Given the description of an element on the screen output the (x, y) to click on. 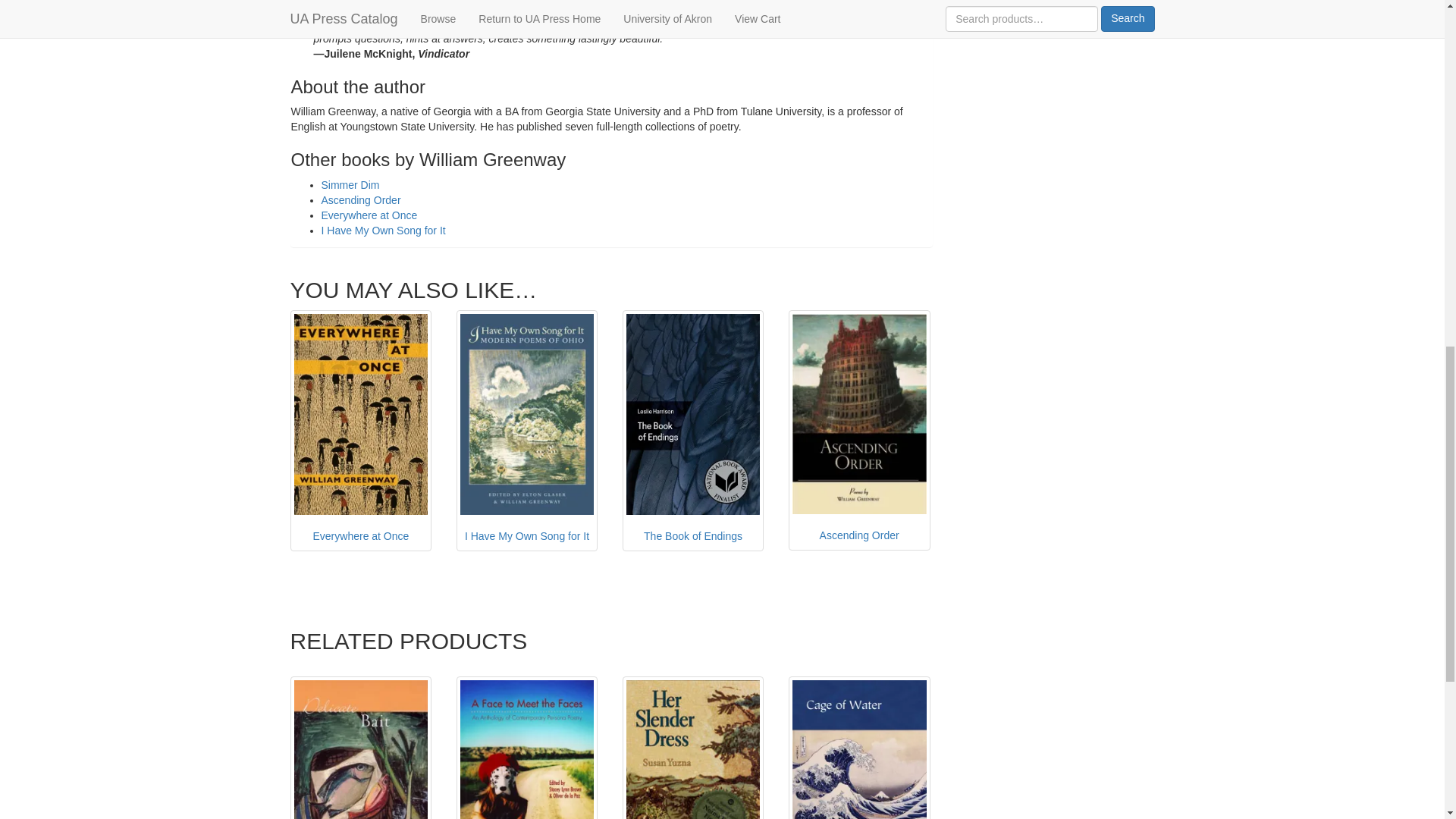
The Book of Endings (693, 431)
DELICATE BAIT (359, 747)
Everywhere at Once (359, 431)
Ascending Order (859, 430)
HER SLENDER DRESS (693, 747)
A FACE TO MEET THE FACES (527, 747)
I Have My Own Song for It (383, 230)
Everywhere at Once (369, 215)
Simmer Dim (350, 184)
CAGE OF WATER (859, 747)
Ascending Order (361, 200)
I Have My Own Song for It (527, 431)
